Given the description of an element on the screen output the (x, y) to click on. 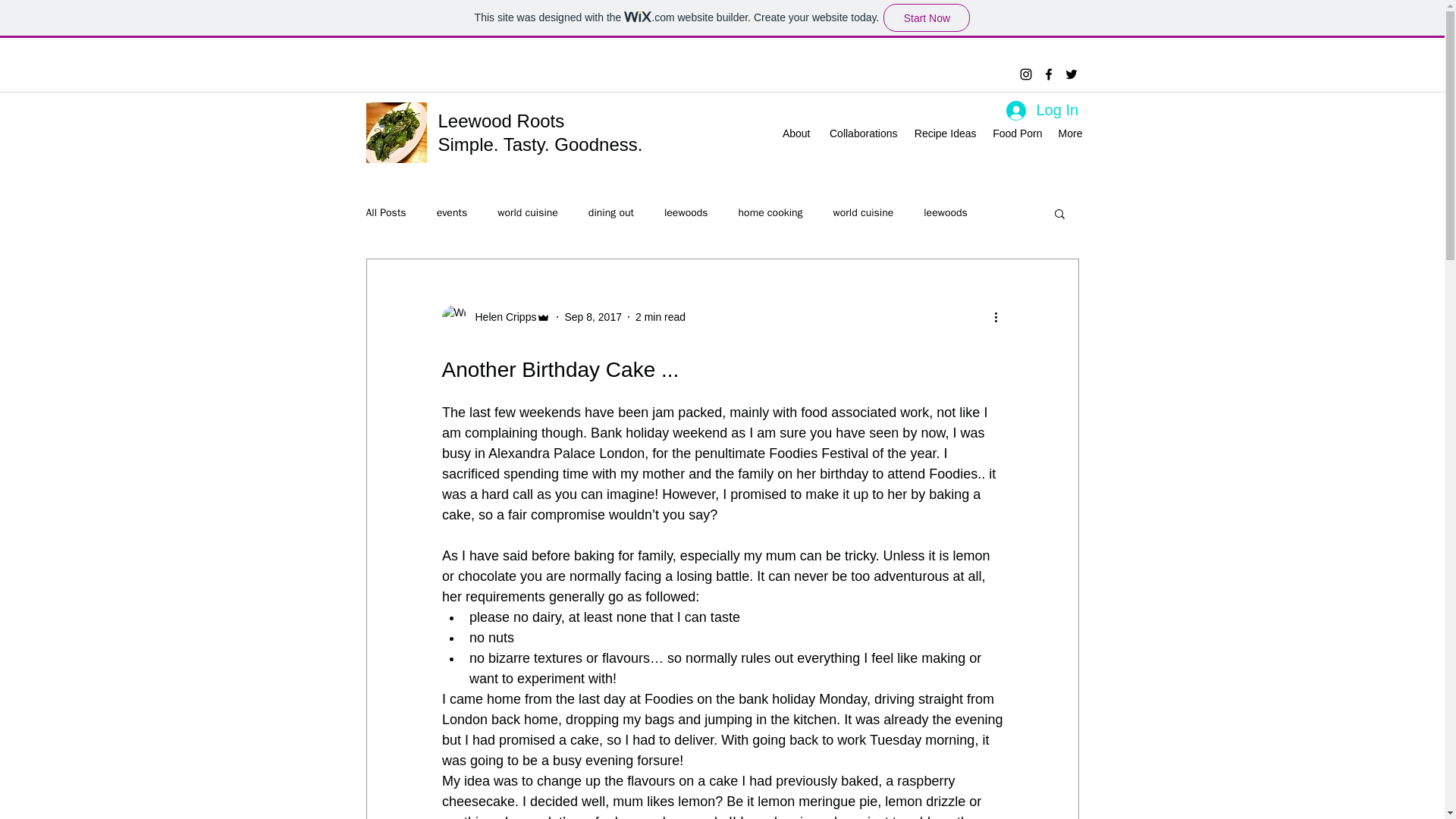
2 min read (659, 316)
events (451, 213)
home cooking (770, 213)
Collaborations (860, 133)
Food Porn (1016, 133)
dining out (610, 213)
world cuisine (862, 213)
leewoods (685, 213)
Recipe Ideas (944, 133)
Log In (1040, 109)
leewoods (945, 213)
Helen Cripps (495, 316)
world cuisine (527, 213)
About (795, 133)
Helen Cripps (500, 317)
